Given the description of an element on the screen output the (x, y) to click on. 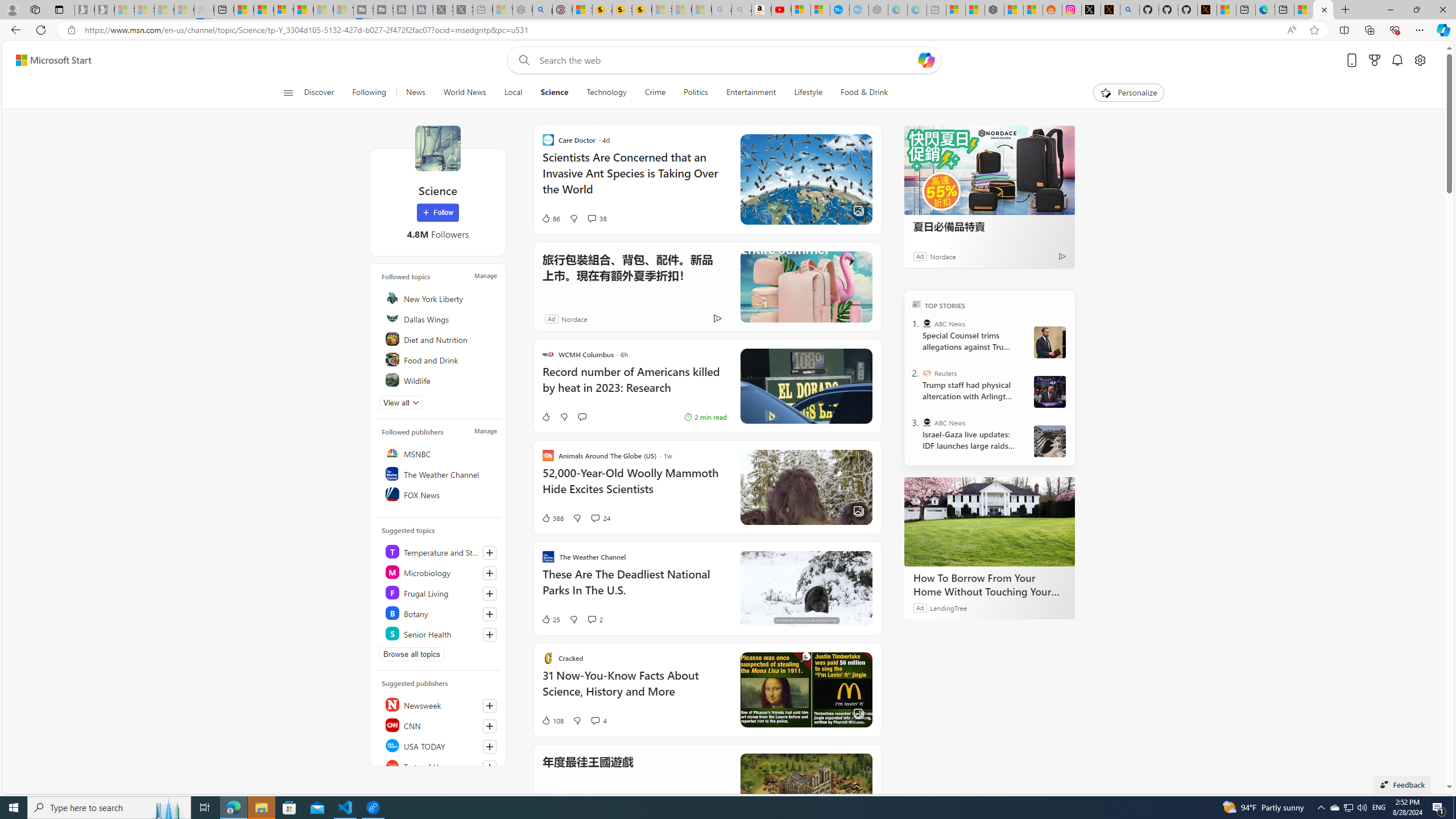
Microsoft Start - Sleeping (322, 9)
Opinion: Op-Ed and Commentary - USA TODAY (839, 9)
World News (464, 92)
Personalize (1128, 92)
Pets (439, 400)
amazon - Search - Sleeping (721, 9)
Reuters (927, 372)
Wildlife - MSN - Sleeping (501, 9)
Crime (655, 92)
